Given the description of an element on the screen output the (x, y) to click on. 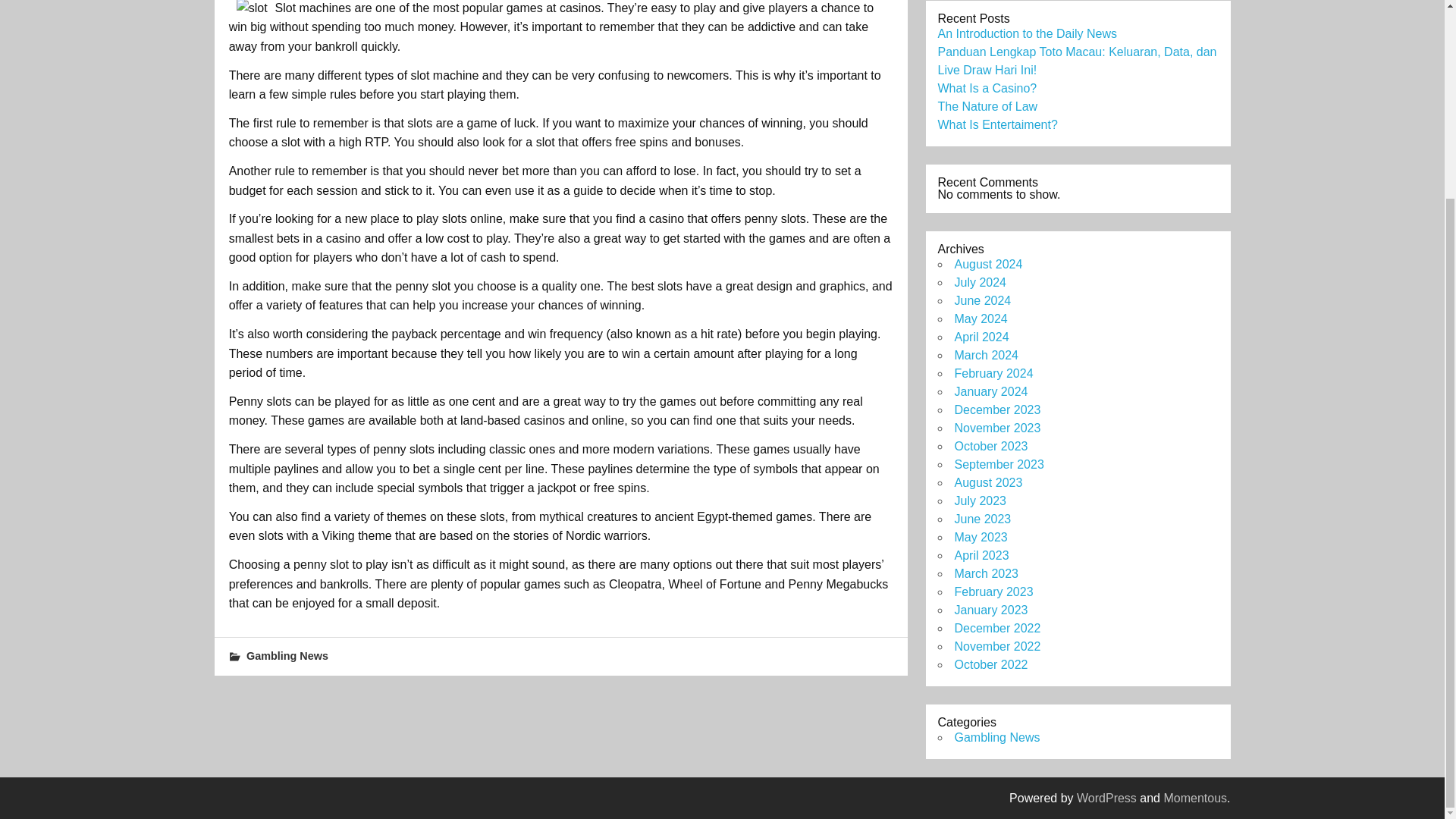
January 2024 (990, 391)
September 2023 (998, 463)
November 2022 (997, 645)
November 2023 (997, 427)
April 2024 (981, 336)
What Is a Casino? (986, 88)
July 2023 (979, 500)
An Introduction to the Daily News (1026, 33)
August 2024 (987, 264)
March 2024 (985, 354)
April 2023 (981, 554)
August 2023 (987, 481)
February 2023 (992, 591)
February 2024 (992, 373)
WordPress (1107, 797)
